Given the description of an element on the screen output the (x, y) to click on. 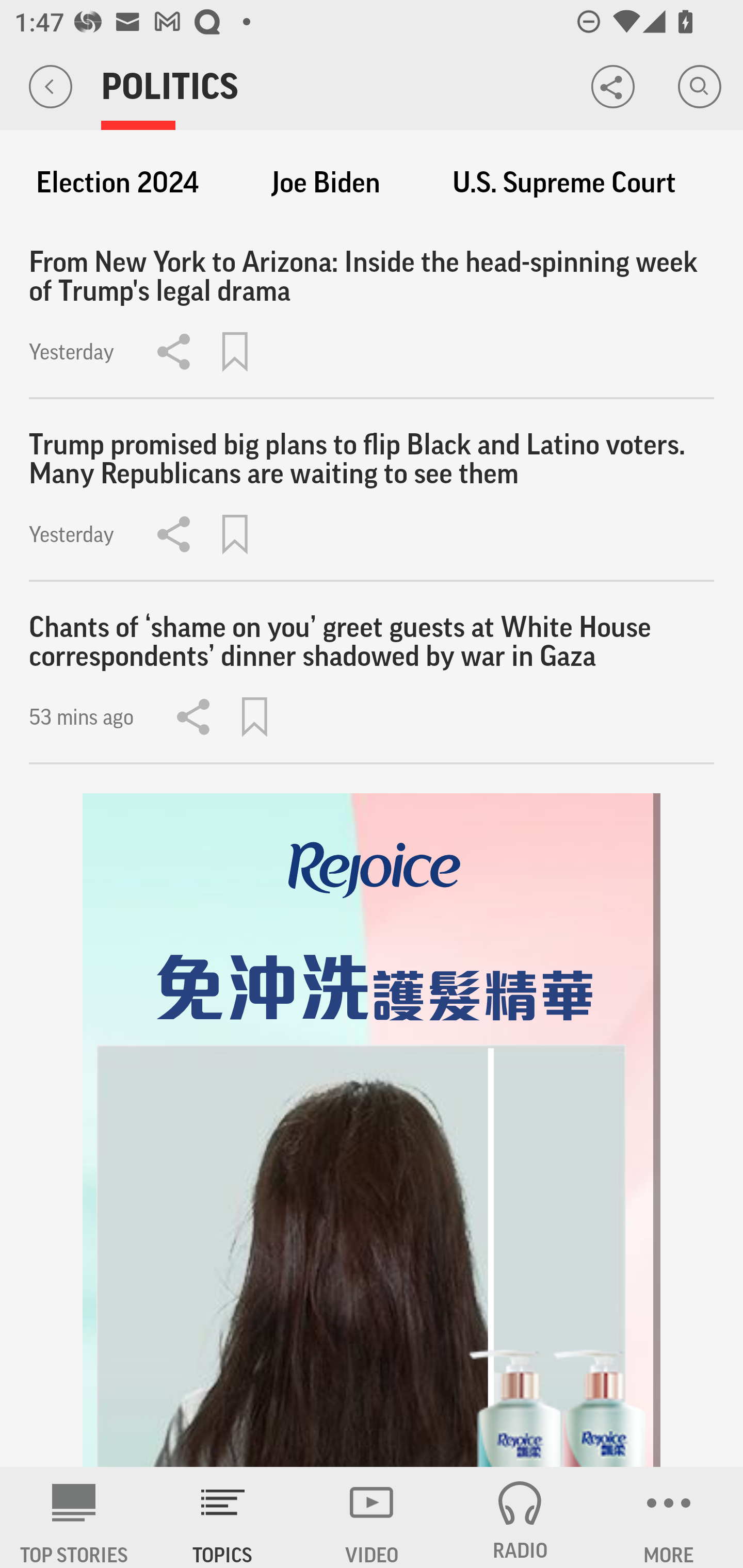
Election 2024 (116, 182)
Joe Biden (325, 182)
U.S. Supreme Court (564, 182)
javascript:window.open(window (371, 1130)
AP News TOP STORIES (74, 1517)
TOPICS (222, 1517)
VIDEO (371, 1517)
RADIO (519, 1517)
MORE (668, 1517)
